Given the description of an element on the screen output the (x, y) to click on. 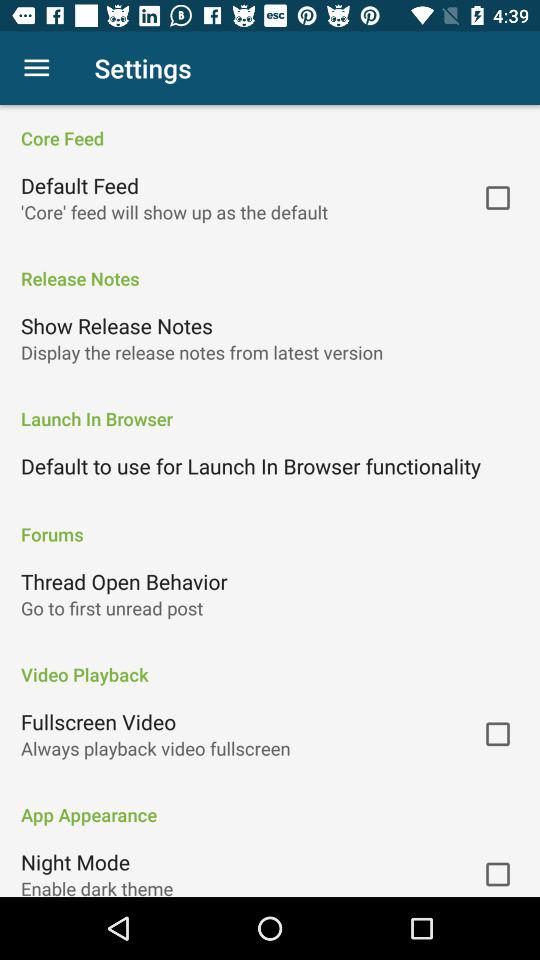
turn on enable dark theme item (97, 886)
